Given the description of an element on the screen output the (x, y) to click on. 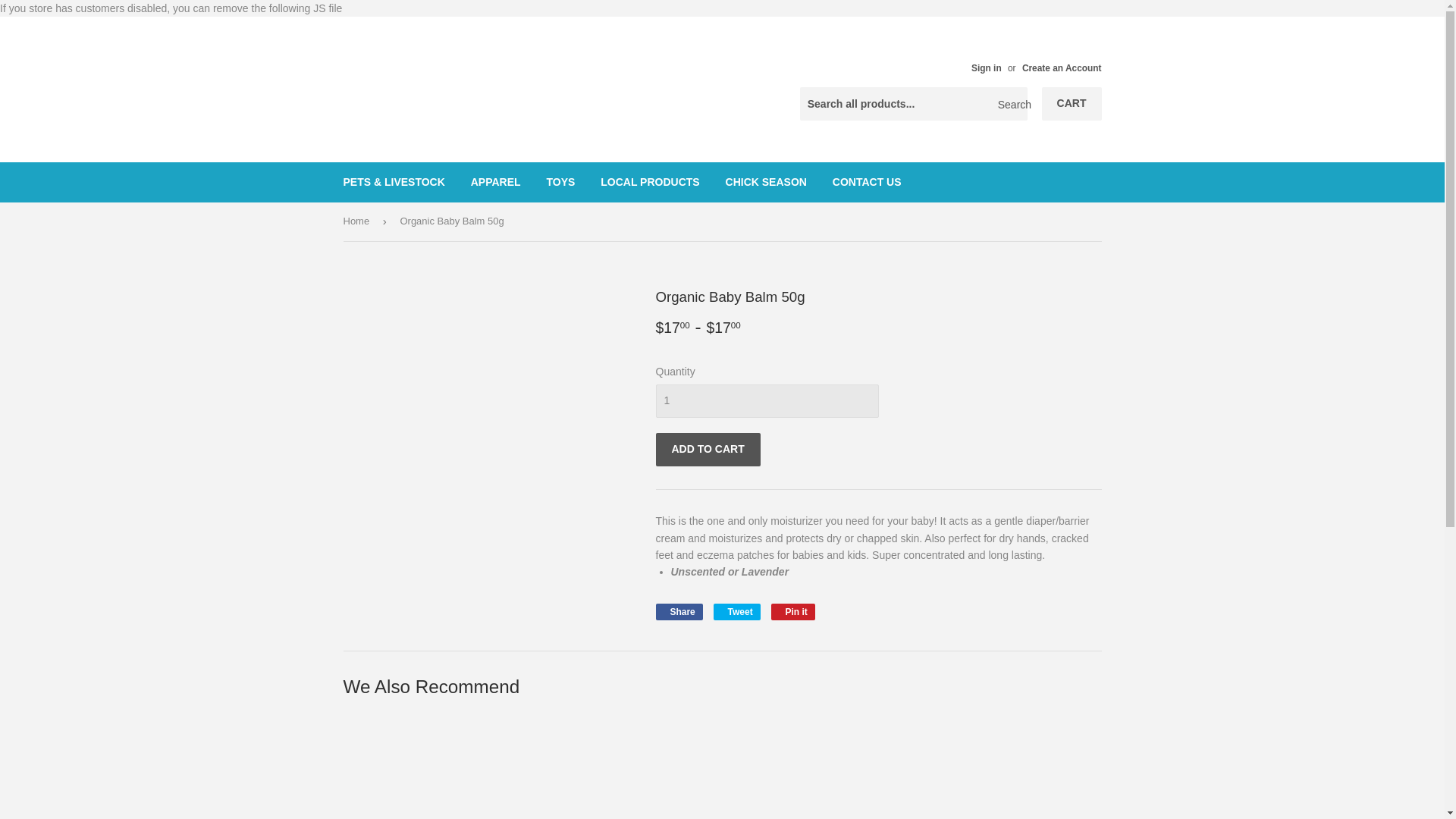
Sign in (986, 68)
Create an Account (1062, 68)
Search (1009, 104)
1 (766, 400)
Pin on Pinterest (793, 611)
CART (1072, 103)
Tweet on Twitter (736, 611)
Share on Facebook (678, 611)
